Given the description of an element on the screen output the (x, y) to click on. 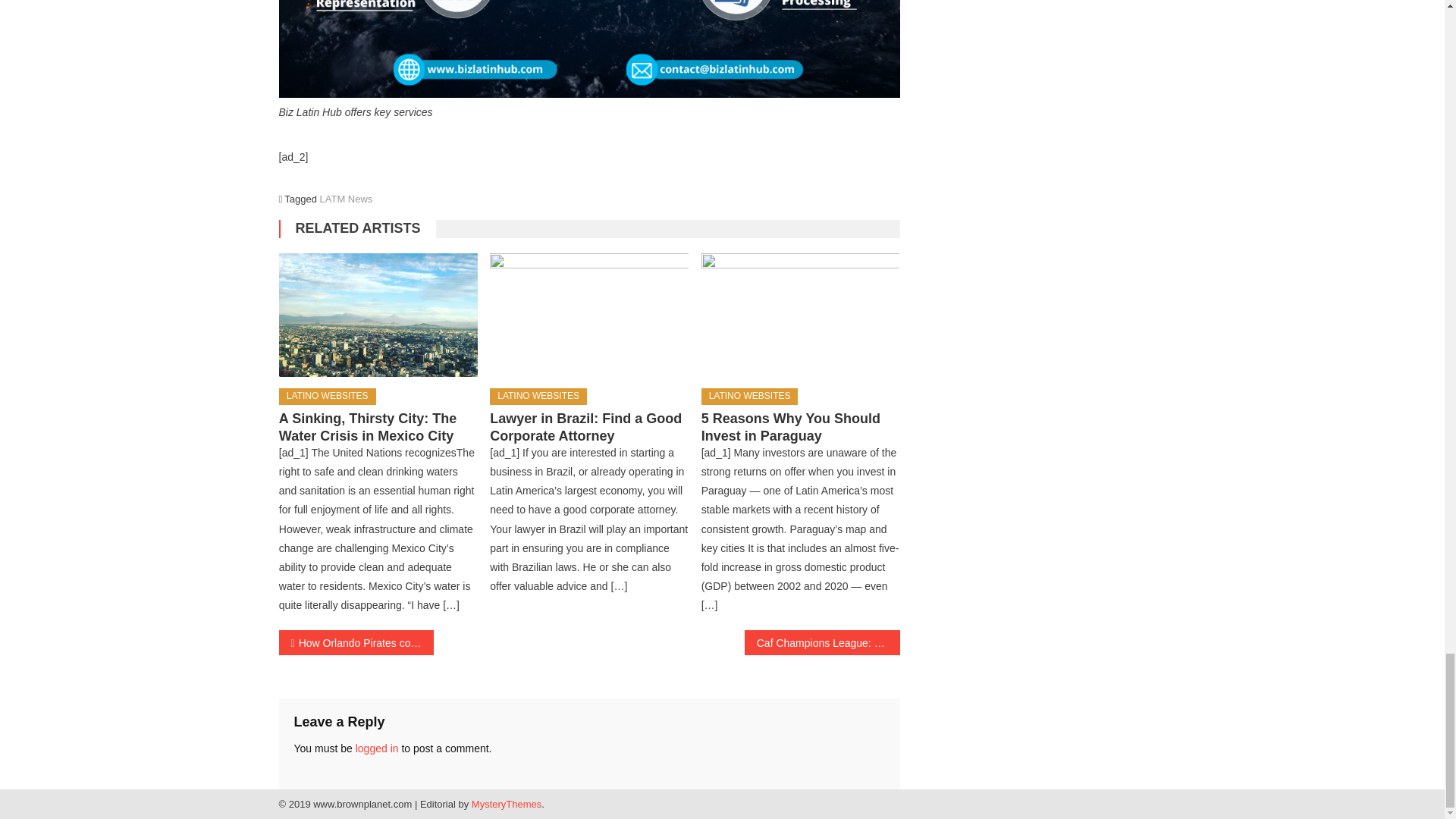
5 Reasons Why You Should Invest in Paraguay (800, 315)
Lawyer in Brazil: Find a Good Corporate Attorney (588, 315)
A Sinking, Thirsty City: The Water Crisis in Mexico City (378, 315)
